Given the description of an element on the screen output the (x, y) to click on. 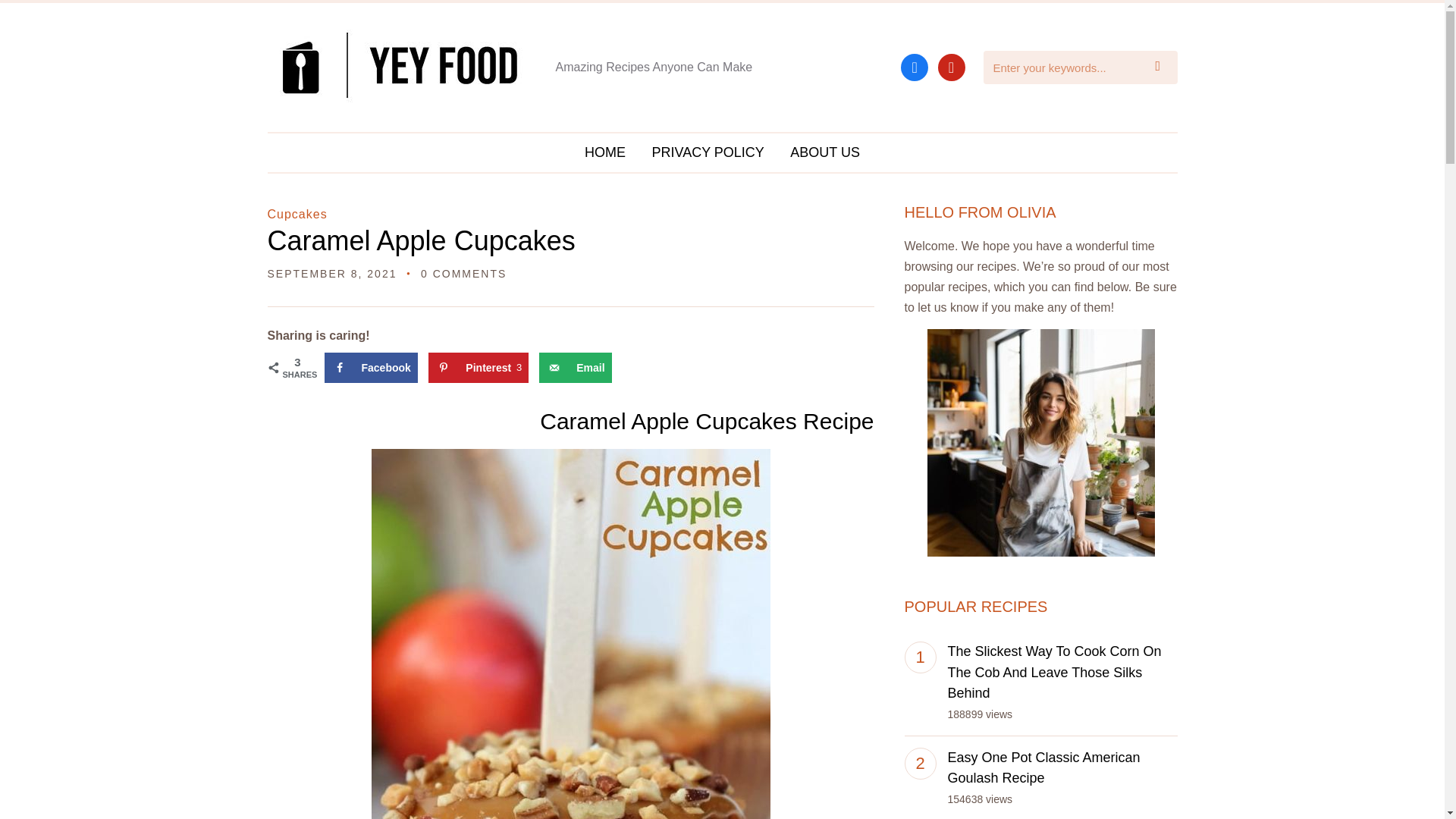
PRIVACY POLICY (707, 152)
Cupcakes (296, 213)
HOME (605, 152)
facebook (914, 65)
Caramel Apple Cupcakes (420, 240)
0 COMMENTS (463, 273)
Facebook (370, 367)
Search (1161, 67)
Send over email (574, 367)
Facebook (914, 65)
